Given the description of an element on the screen output the (x, y) to click on. 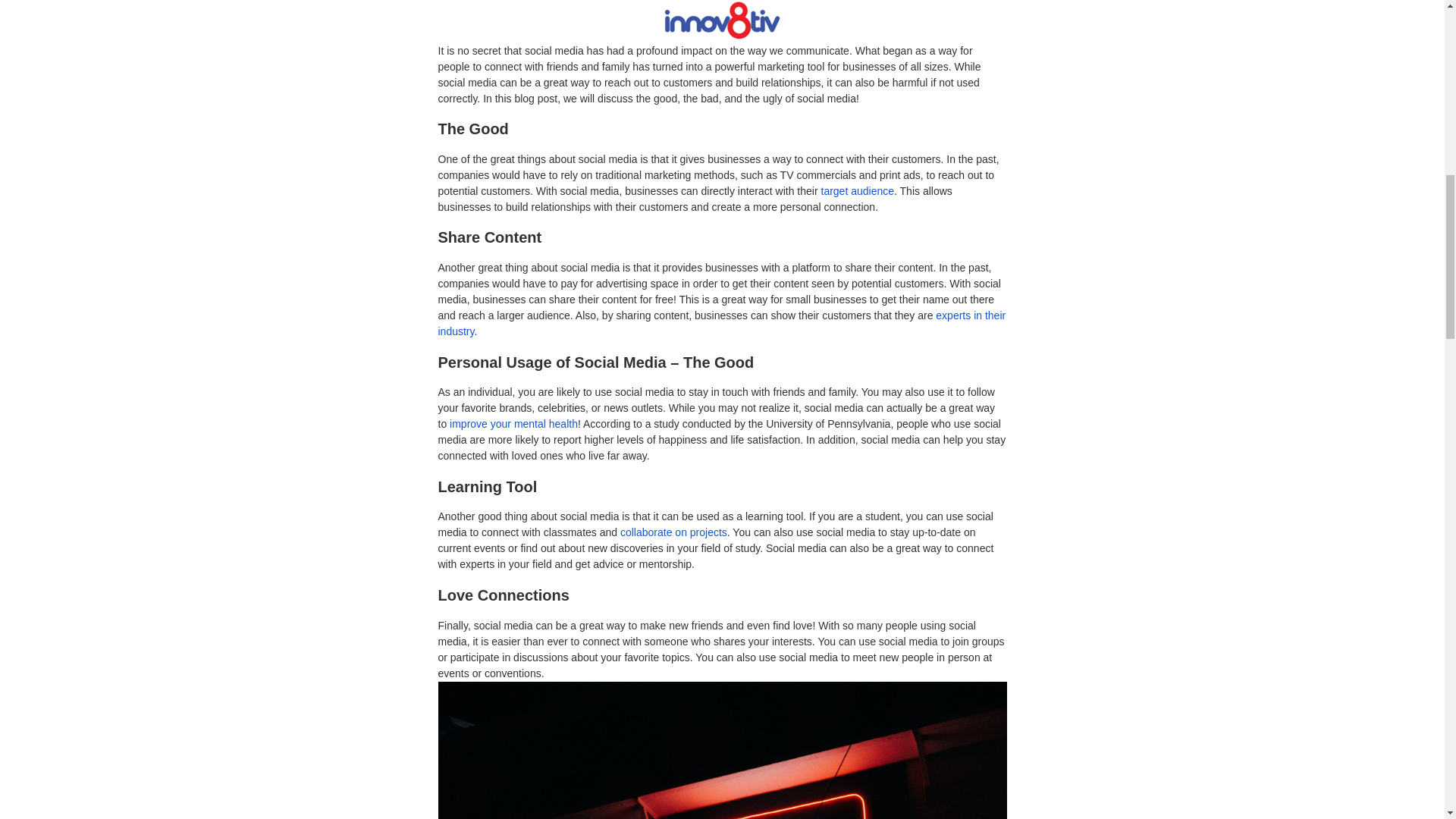
experts in their industry (722, 323)
target audience (857, 191)
improve your mental health (513, 423)
collaborate on projects (673, 532)
Photo by Alexander Shatov on Unsplash (911, 24)
